Given the description of an element on the screen output the (x, y) to click on. 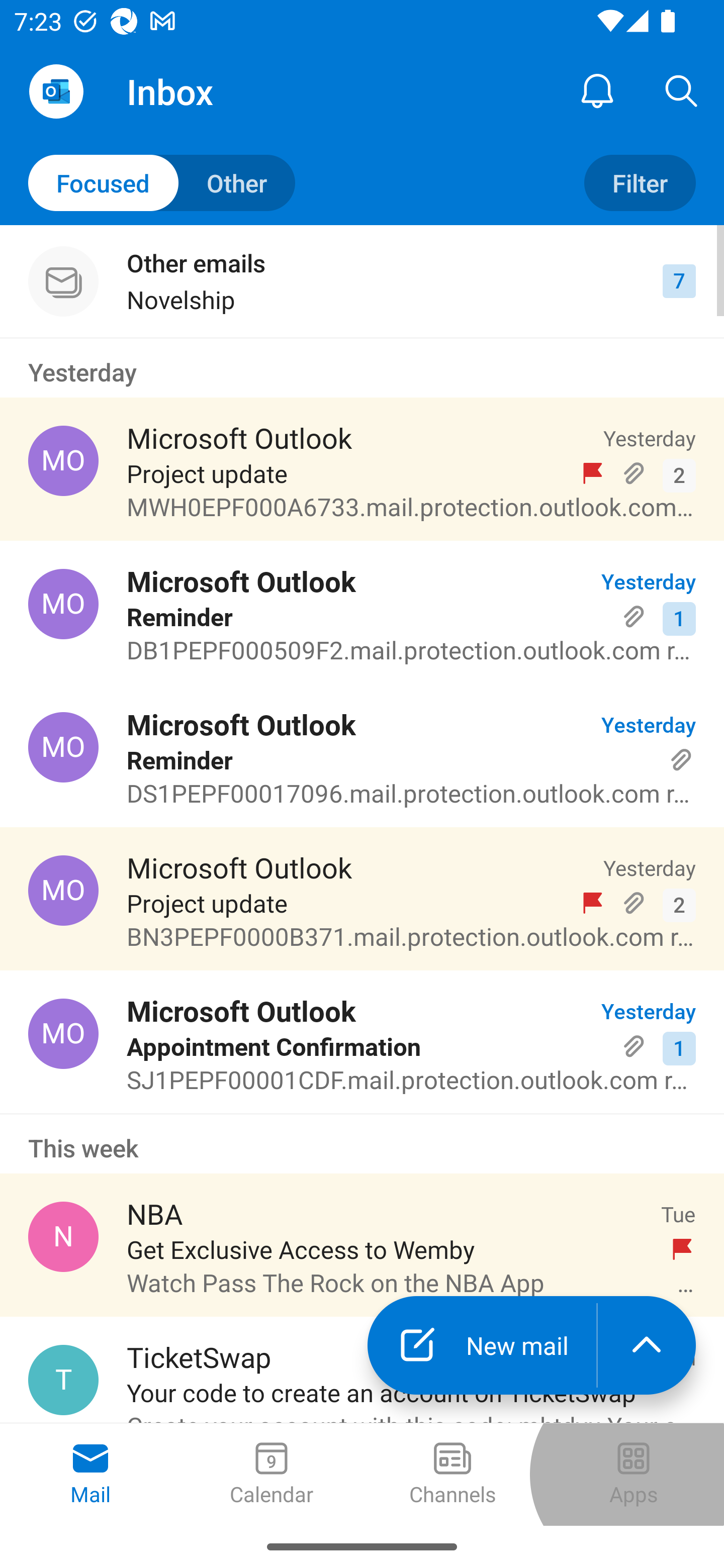
Notification Center (597, 90)
Search, ,  (681, 90)
Open Navigation Drawer (55, 91)
Toggle to other mails (161, 183)
Filter (639, 183)
Other emails Novelship 7 (362, 281)
NBA, NBA@email.nba.com (63, 1236)
New mail (481, 1344)
launch the extended action menu (646, 1344)
TicketSwap, info@ticketswap.com (63, 1380)
Calendar (271, 1474)
Channels (452, 1474)
Apps (633, 1474)
